Given the description of an element on the screen output the (x, y) to click on. 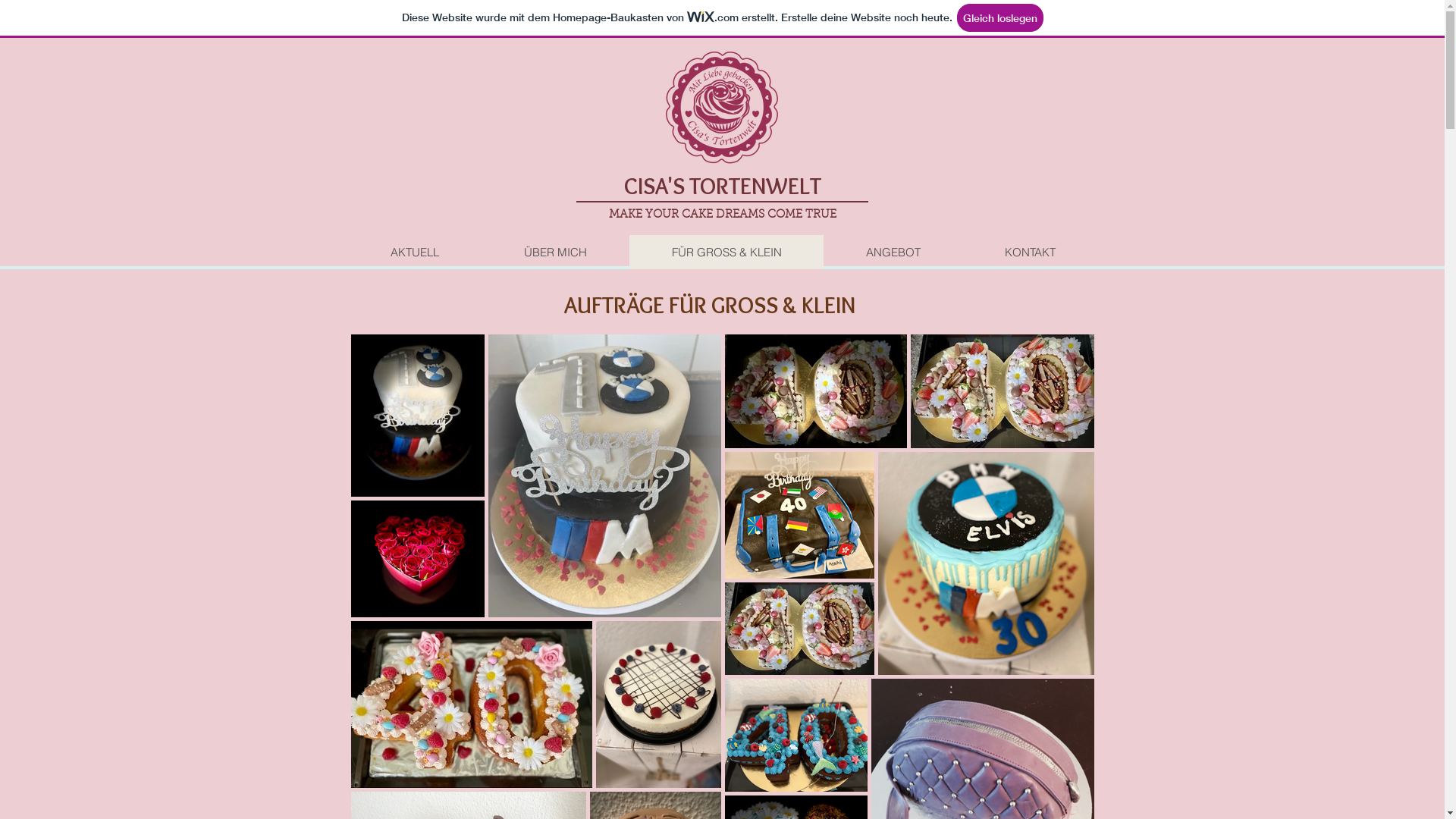
KONTAKT Element type: text (1028, 252)
AKTUELL Element type: text (414, 252)
ANGEBOT Element type: text (892, 252)
